Given the description of an element on the screen output the (x, y) to click on. 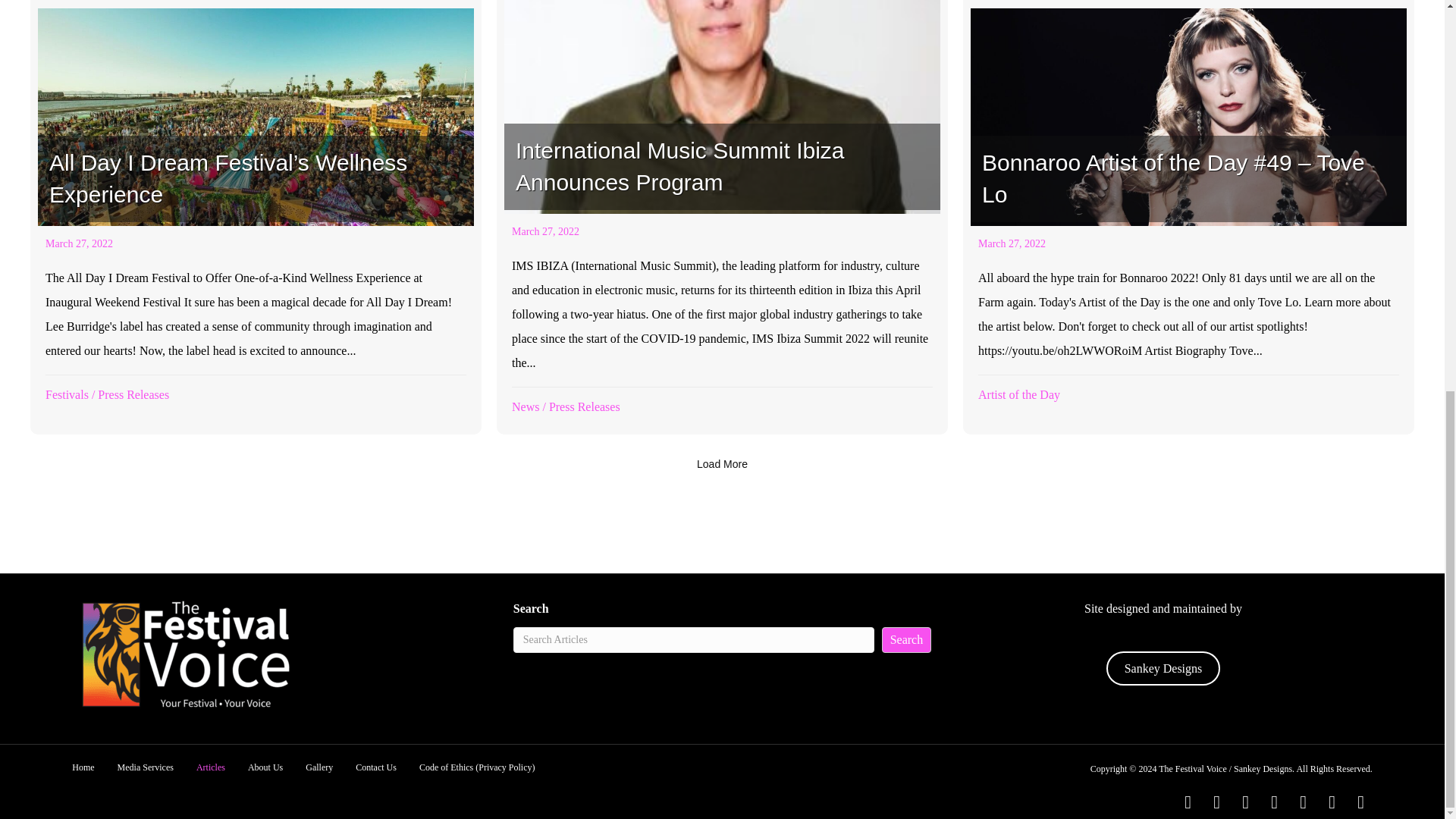
Artist of the Day (1018, 394)
Press Releases (132, 394)
News (525, 406)
Press Releases (584, 406)
Festivals (66, 394)
